Given the description of an element on the screen output the (x, y) to click on. 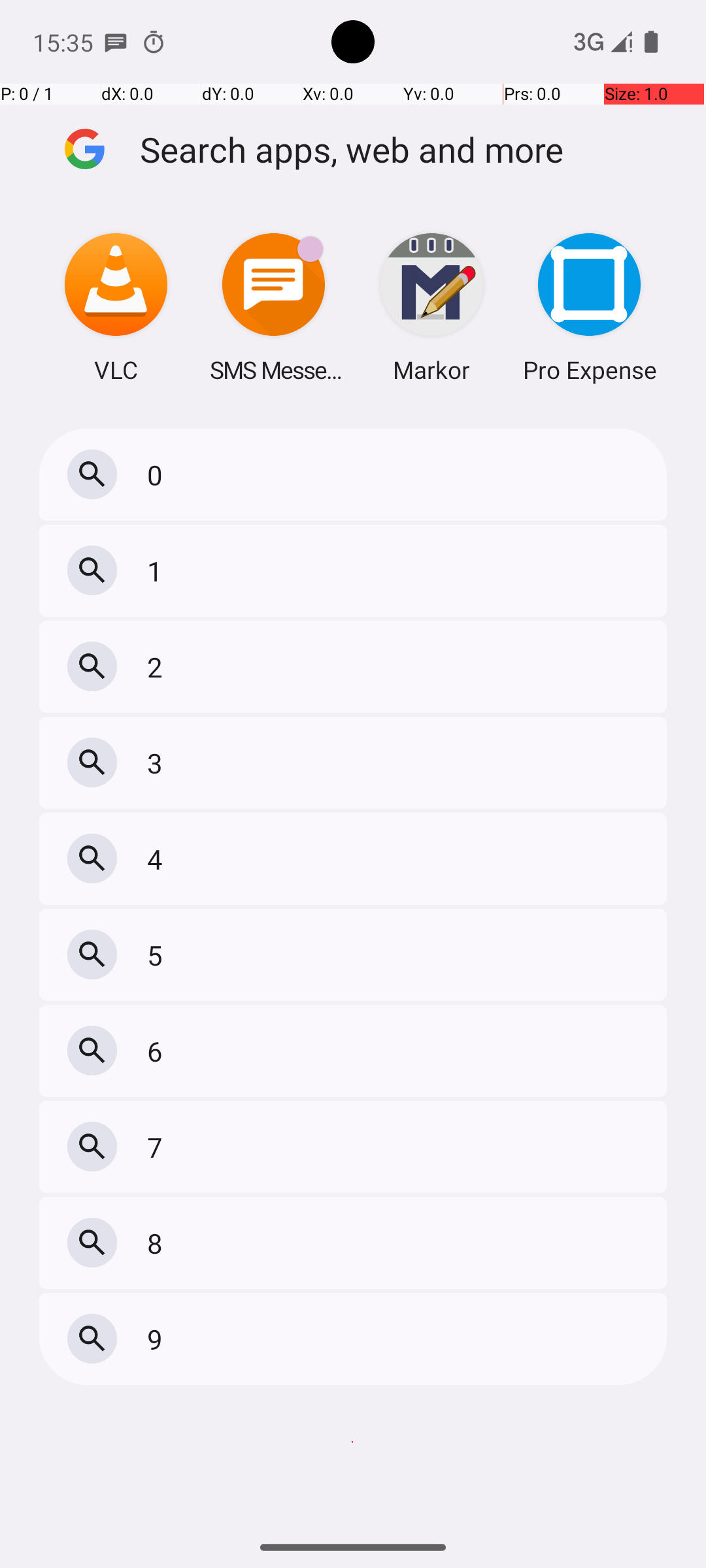
Search apps, web and more Element type: android.widget.EditText (403, 148)
SMS Messenger notification: Freya Hernandez Element type: android.widget.ImageView (115, 41)
